Given the description of an element on the screen output the (x, y) to click on. 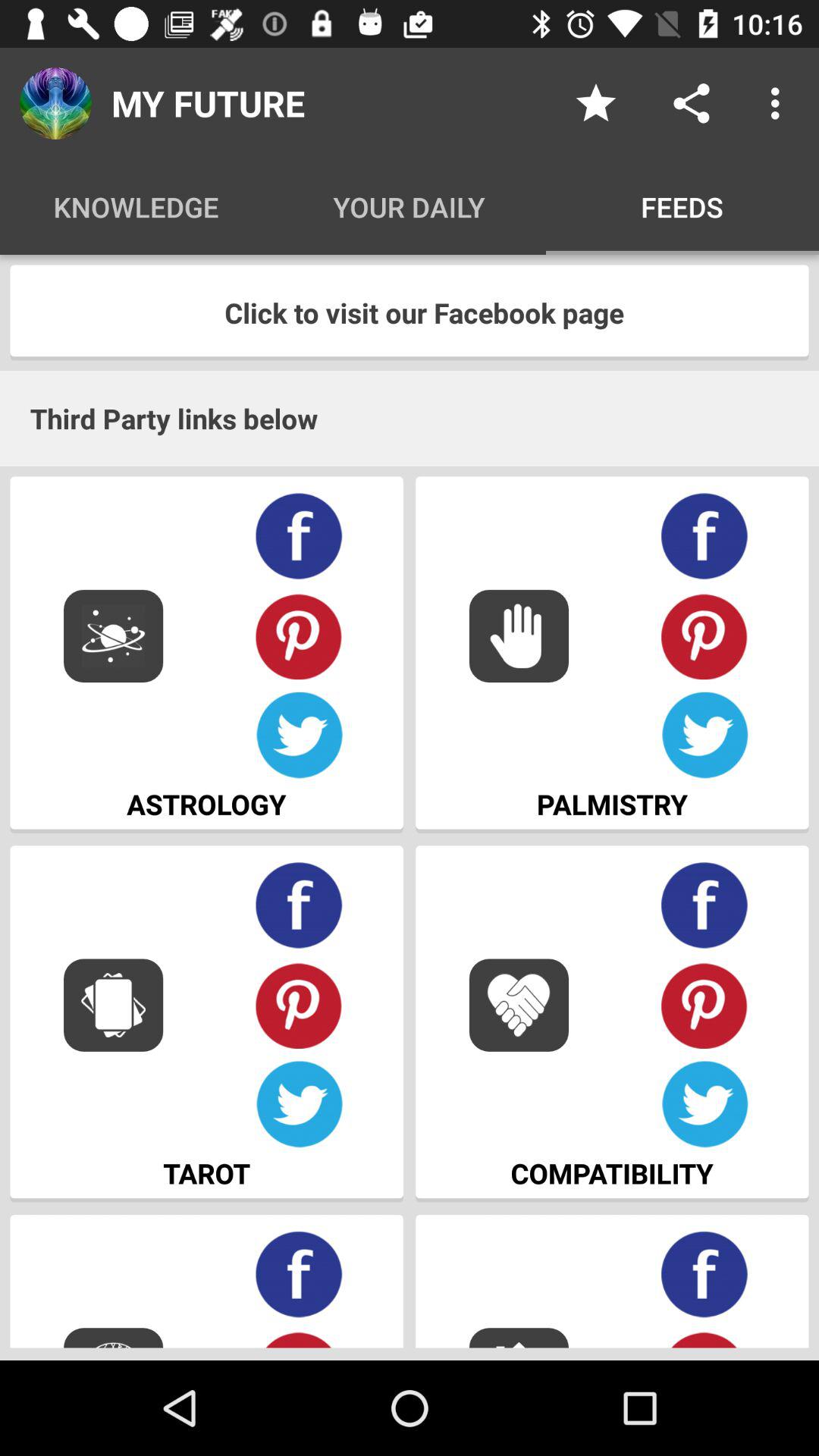
share your astrology to facebook (299, 536)
